Given the description of an element on the screen output the (x, y) to click on. 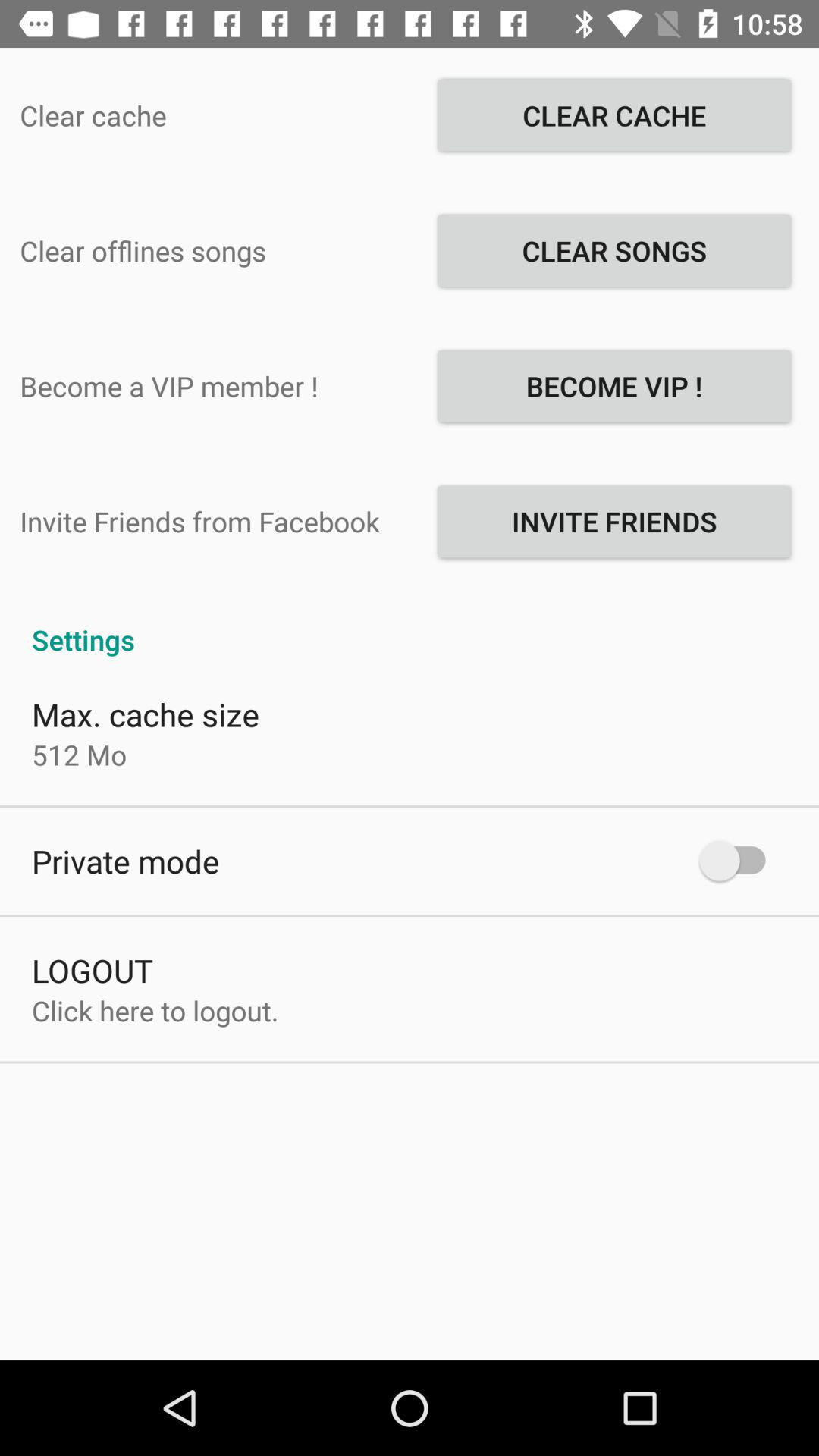
turn on icon below the settings item (145, 713)
